Given the description of an element on the screen output the (x, y) to click on. 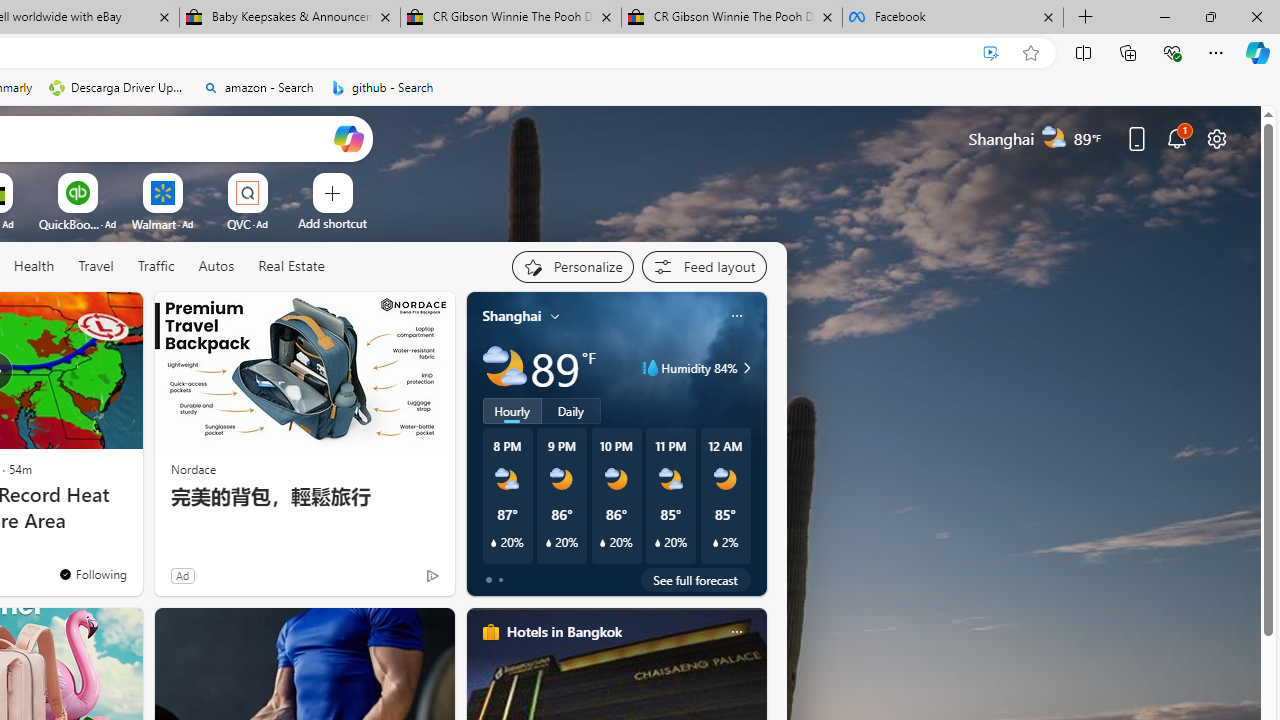
Page settings (1216, 138)
Traffic (155, 267)
Class: weather-current-precipitation-glyph (715, 543)
Feed settings (703, 266)
See full forecast (695, 579)
Add a site (332, 223)
Baby Keepsakes & Announcements for sale | eBay (290, 17)
